Given the description of an element on the screen output the (x, y) to click on. 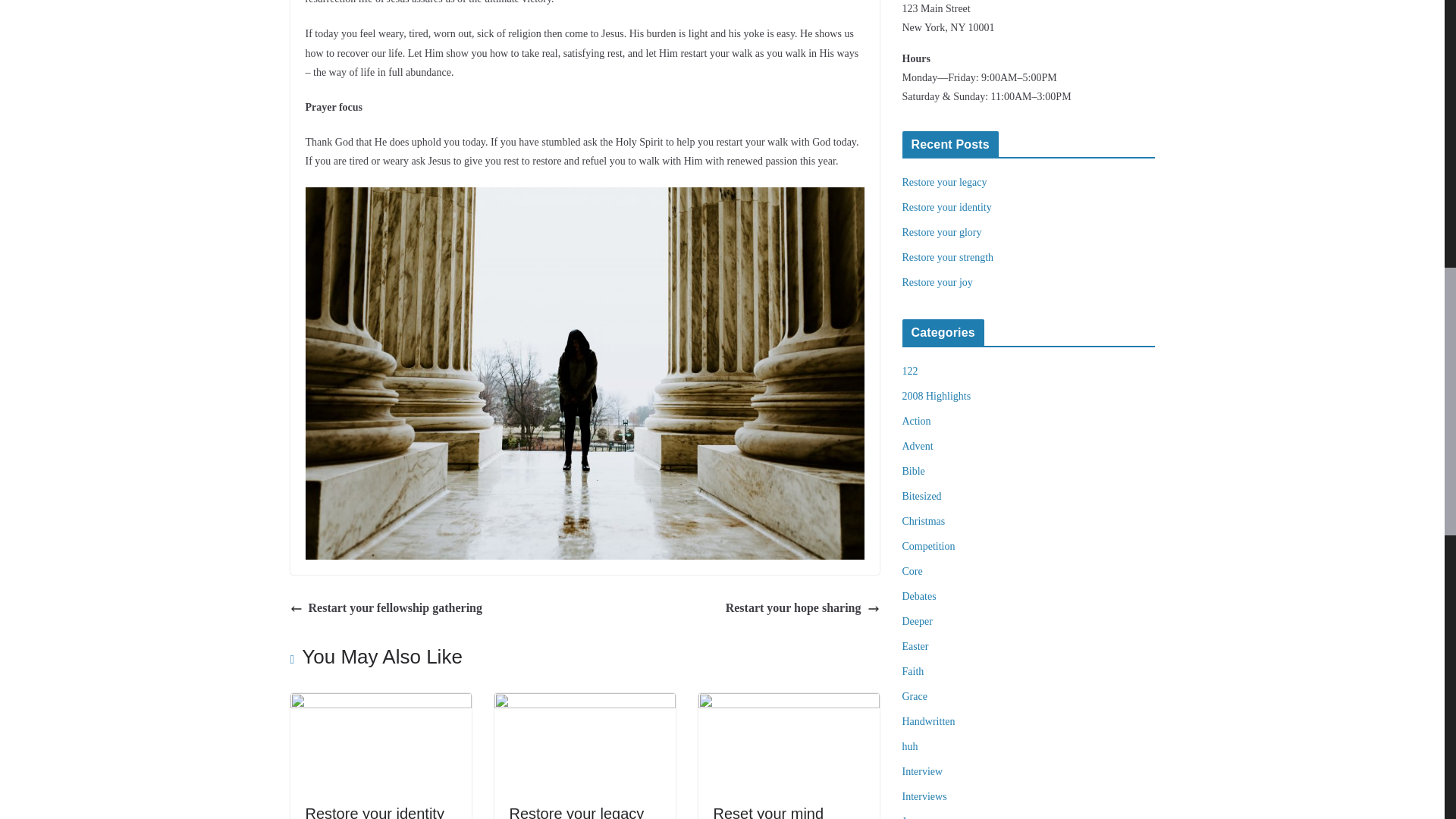
Restart your prayer (585, 703)
Restart your intimacy (375, 812)
2008 Highlights (936, 396)
Restore your glory (941, 232)
Restart your prayer (574, 812)
Reset your focus (788, 703)
Reset your focus (770, 812)
Advent (917, 446)
Restart your hope sharing (802, 608)
Restore your strength (948, 256)
122 (910, 370)
Restart your intimacy (379, 703)
Bible (913, 471)
Action (916, 420)
Reset your focus (770, 812)
